Given the description of an element on the screen output the (x, y) to click on. 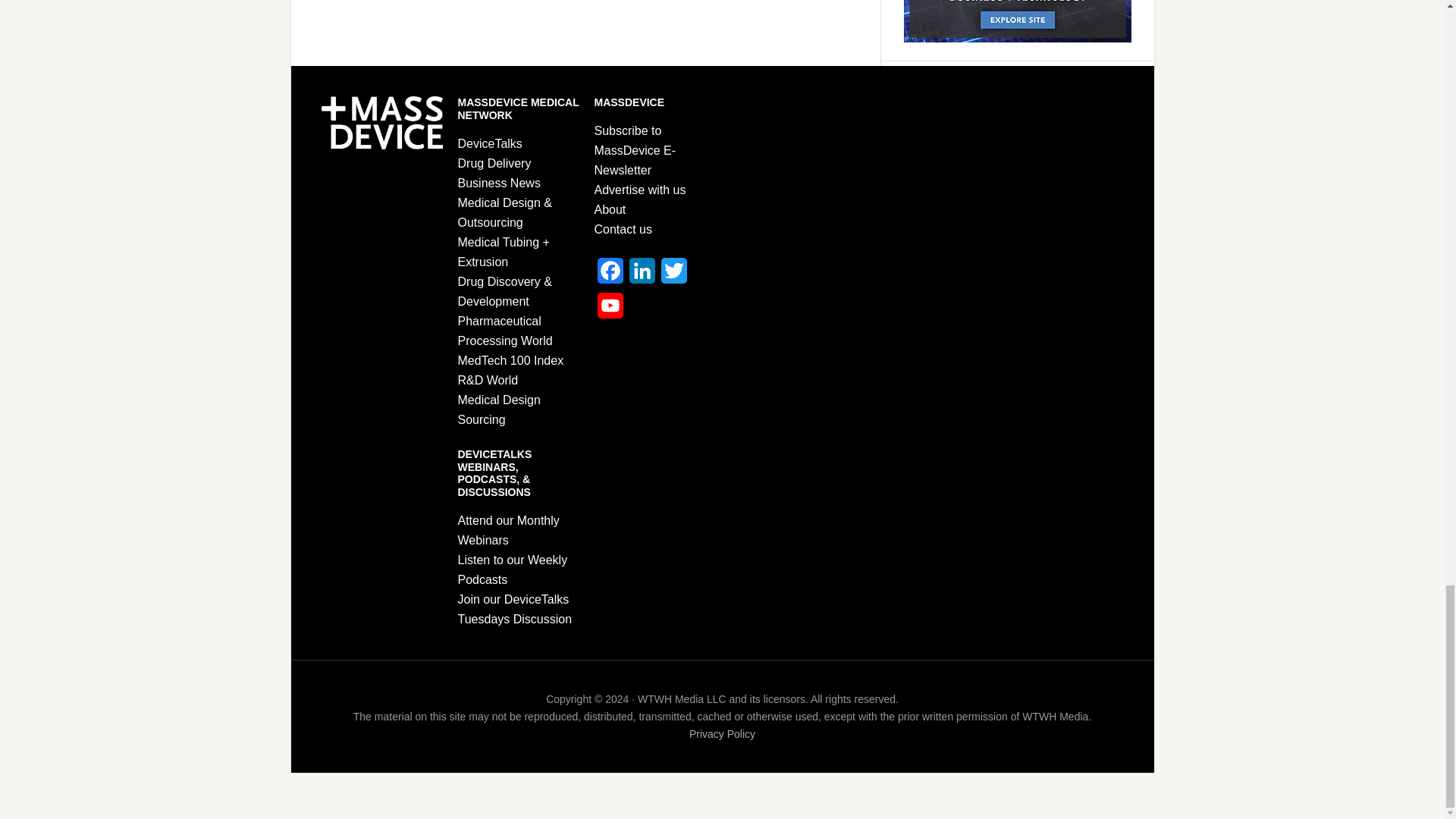
LinkedIn Company (642, 274)
Twitter (674, 274)
Facebook (610, 274)
YouTube Channel (610, 309)
